Given the description of an element on the screen output the (x, y) to click on. 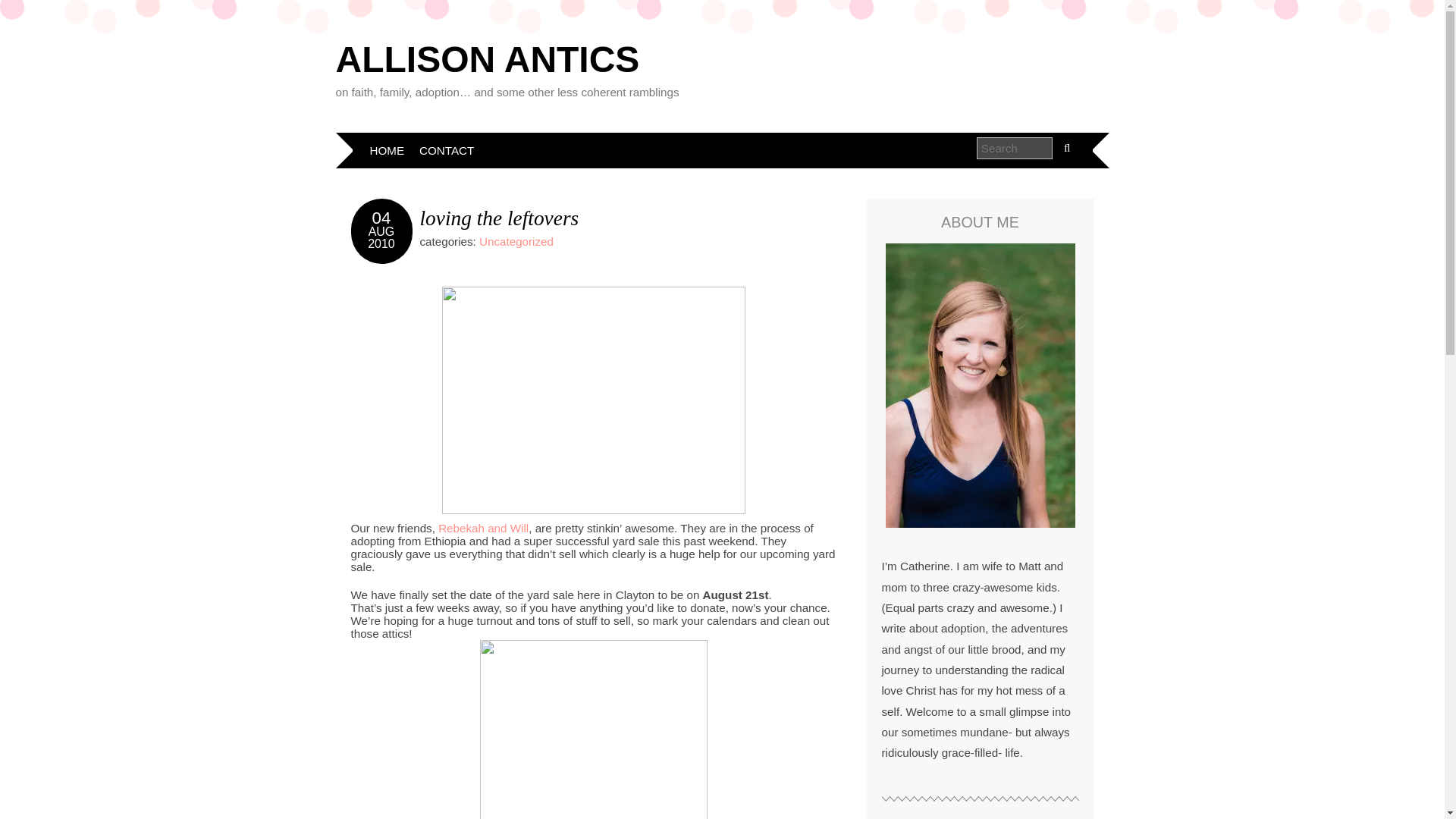
loving the leftovers (499, 218)
04 (381, 217)
HOME (387, 150)
CONTACT (446, 150)
Uncategorized (516, 241)
Rebekah and Will (483, 527)
ALLISON ANTICS (486, 59)
